Given the description of an element on the screen output the (x, y) to click on. 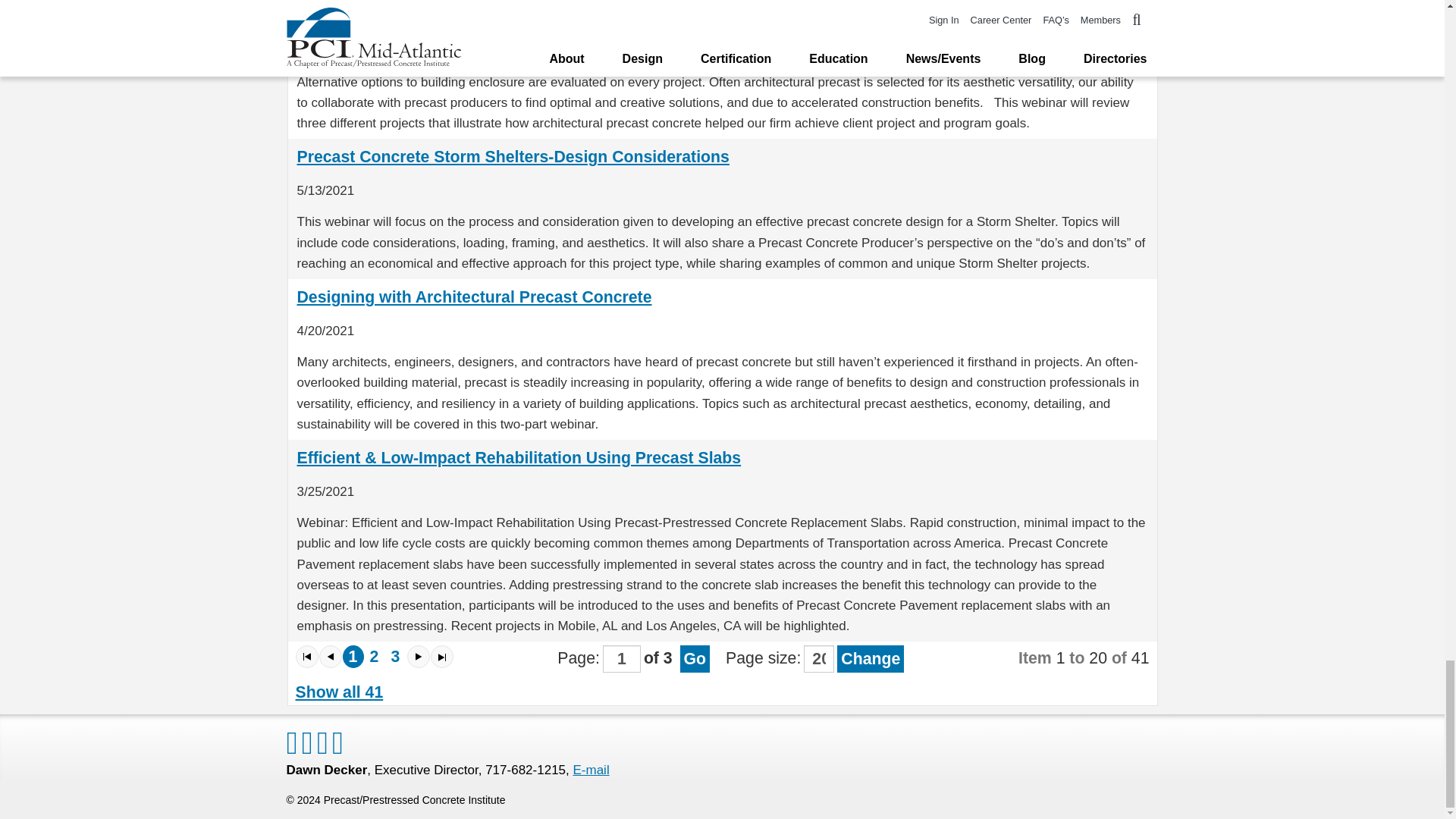
1 (353, 656)
3 (395, 656)
Go (694, 658)
First Page (306, 656)
Next Page (417, 656)
Go to Page 2 (374, 656)
Change (870, 658)
2 (374, 656)
20 (818, 658)
